Given the description of an element on the screen output the (x, y) to click on. 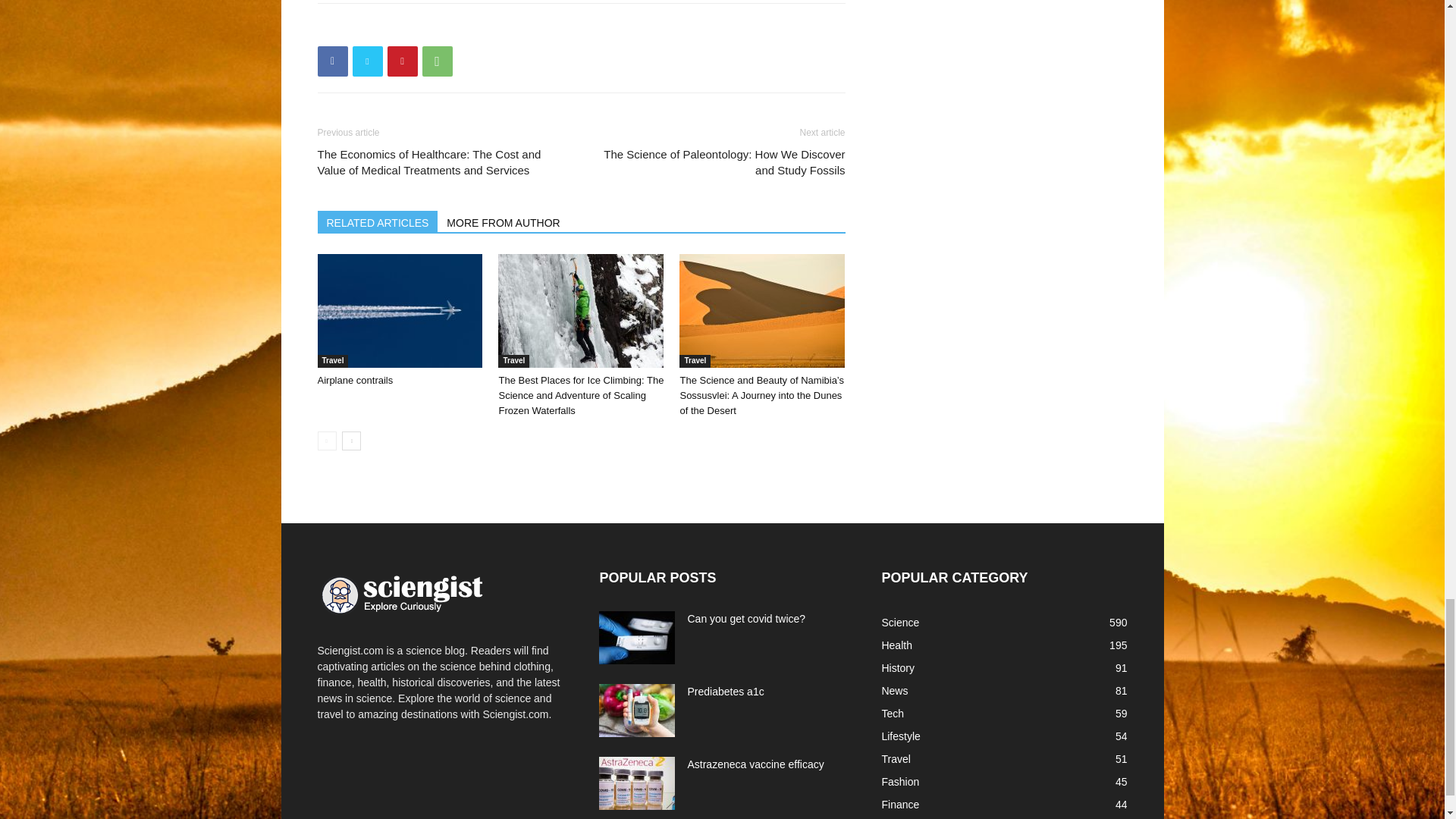
Facebook (332, 60)
